Given the description of an element on the screen output the (x, y) to click on. 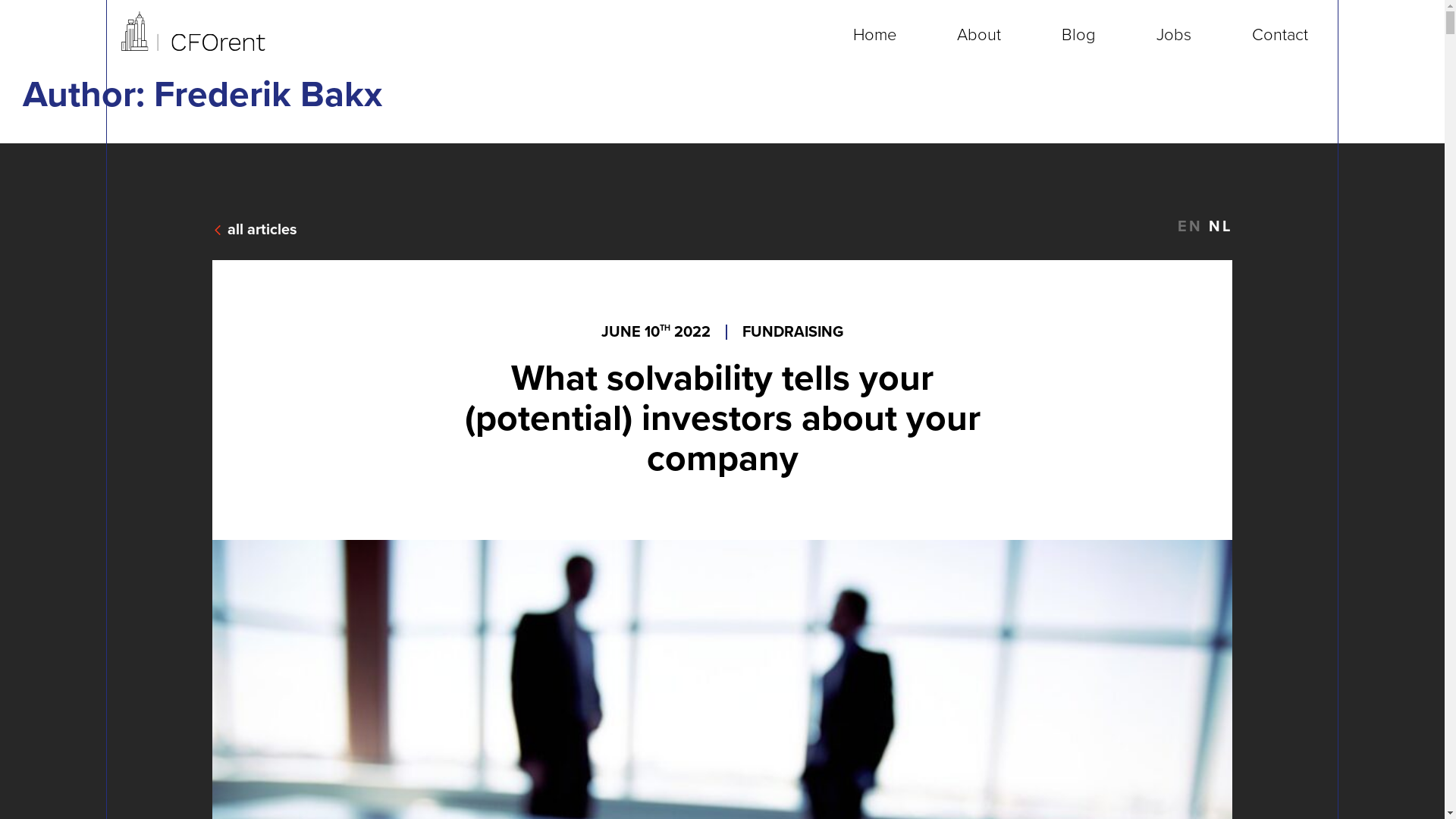
Jobs Element type: text (1173, 34)
Contact Element type: text (1279, 34)
Home Element type: text (874, 34)
 NL Element type: text (1217, 226)
all articles Element type: text (254, 229)
About Element type: text (978, 34)
Blog Element type: text (1078, 34)
